Given the description of an element on the screen output the (x, y) to click on. 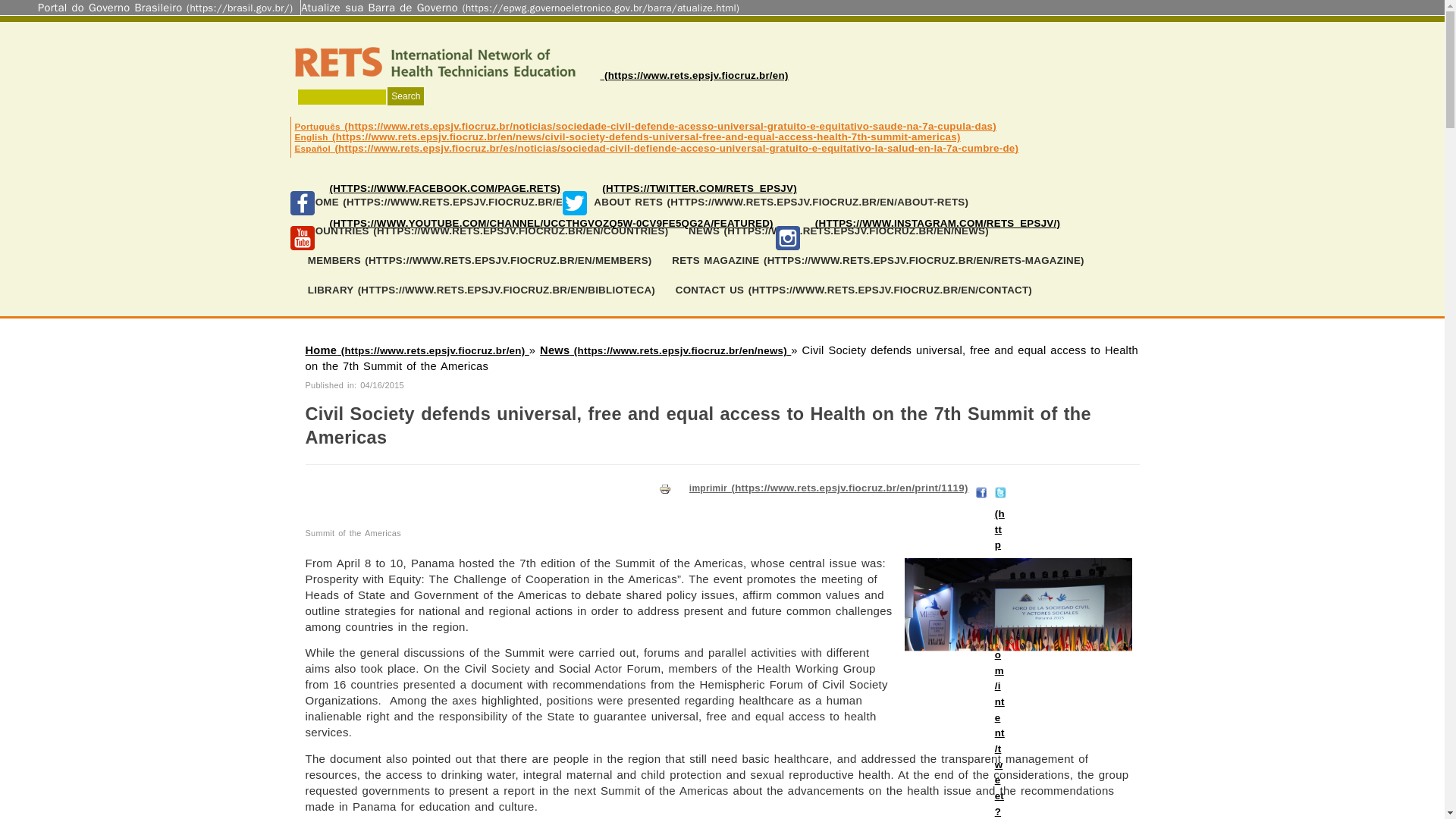
News (838, 231)
NEWS (838, 231)
Home (440, 202)
Contact (853, 290)
Compartilhar no Twitter (1000, 489)
CONTACT US (853, 290)
Enter the terms you wish to search for. (341, 96)
RETS MAGAZINE (878, 261)
Library (481, 290)
Search (405, 95)
